Given the description of an element on the screen output the (x, y) to click on. 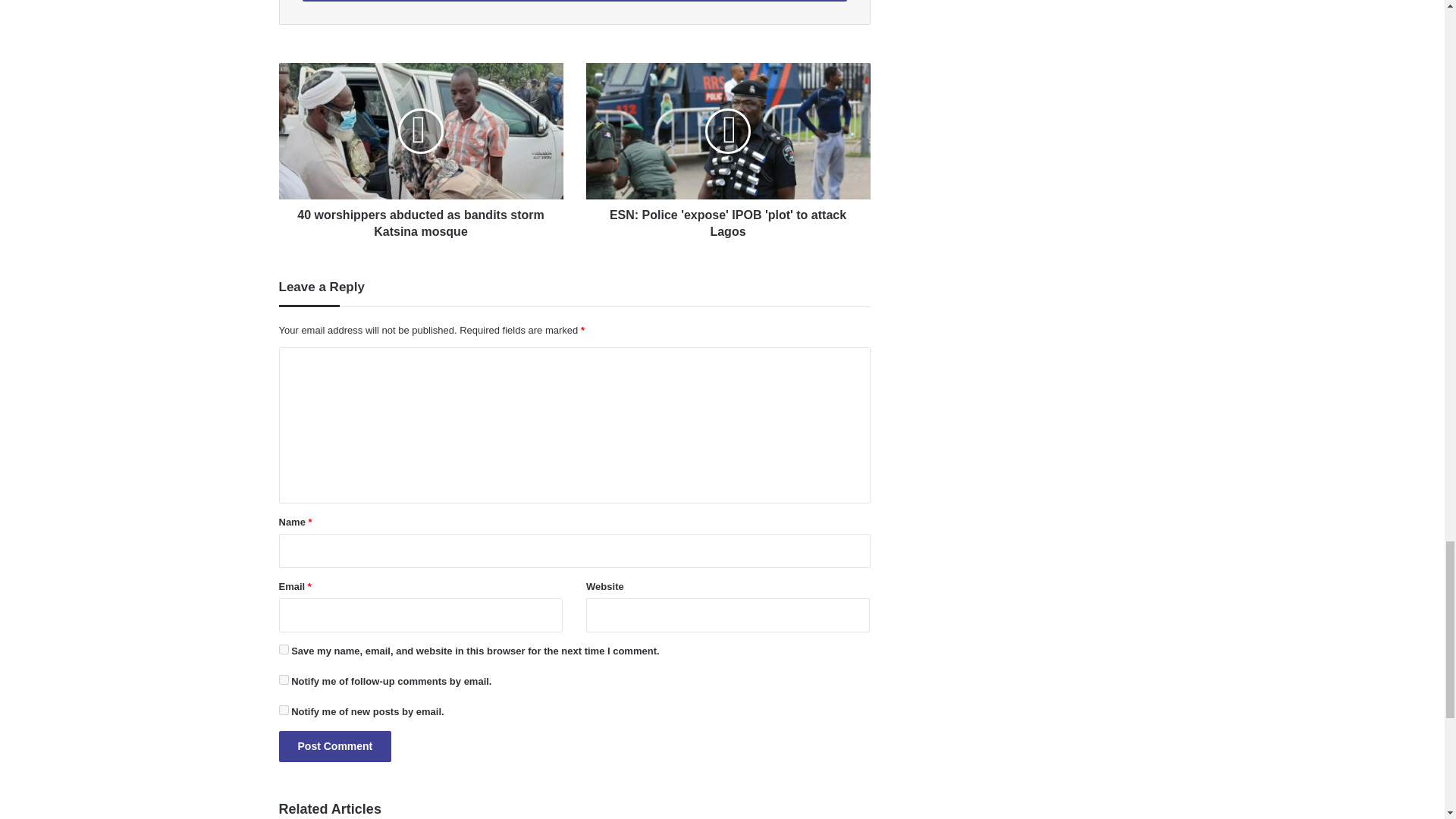
Post Comment (335, 746)
subscribe (283, 679)
subscribe (283, 709)
yes (283, 649)
